Given the description of an element on the screen output the (x, y) to click on. 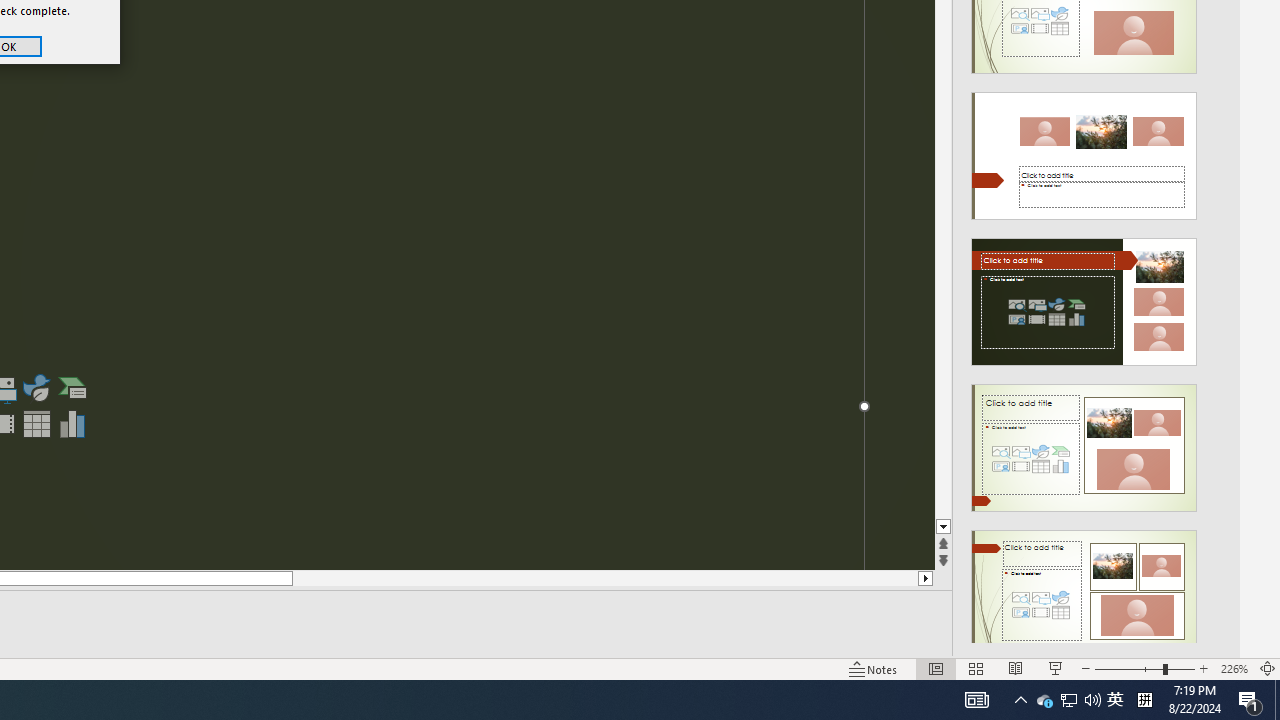
Insert Table (36, 423)
Insert a SmartArt Graphic (73, 387)
Action Center, 1 new notification (1250, 699)
Insert an Icon (36, 387)
